Given the description of an element on the screen output the (x, y) to click on. 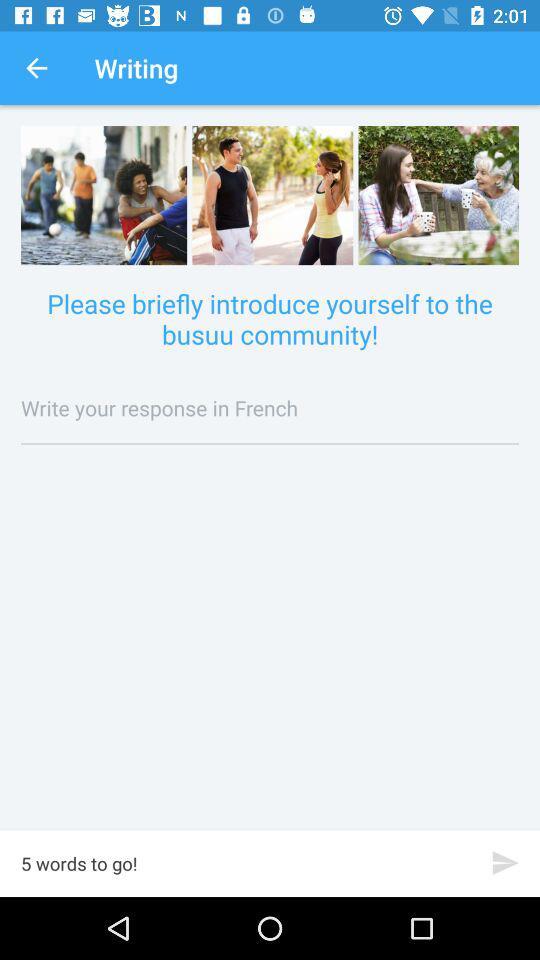
choose the item at the bottom right corner (505, 862)
